Given the description of an element on the screen output the (x, y) to click on. 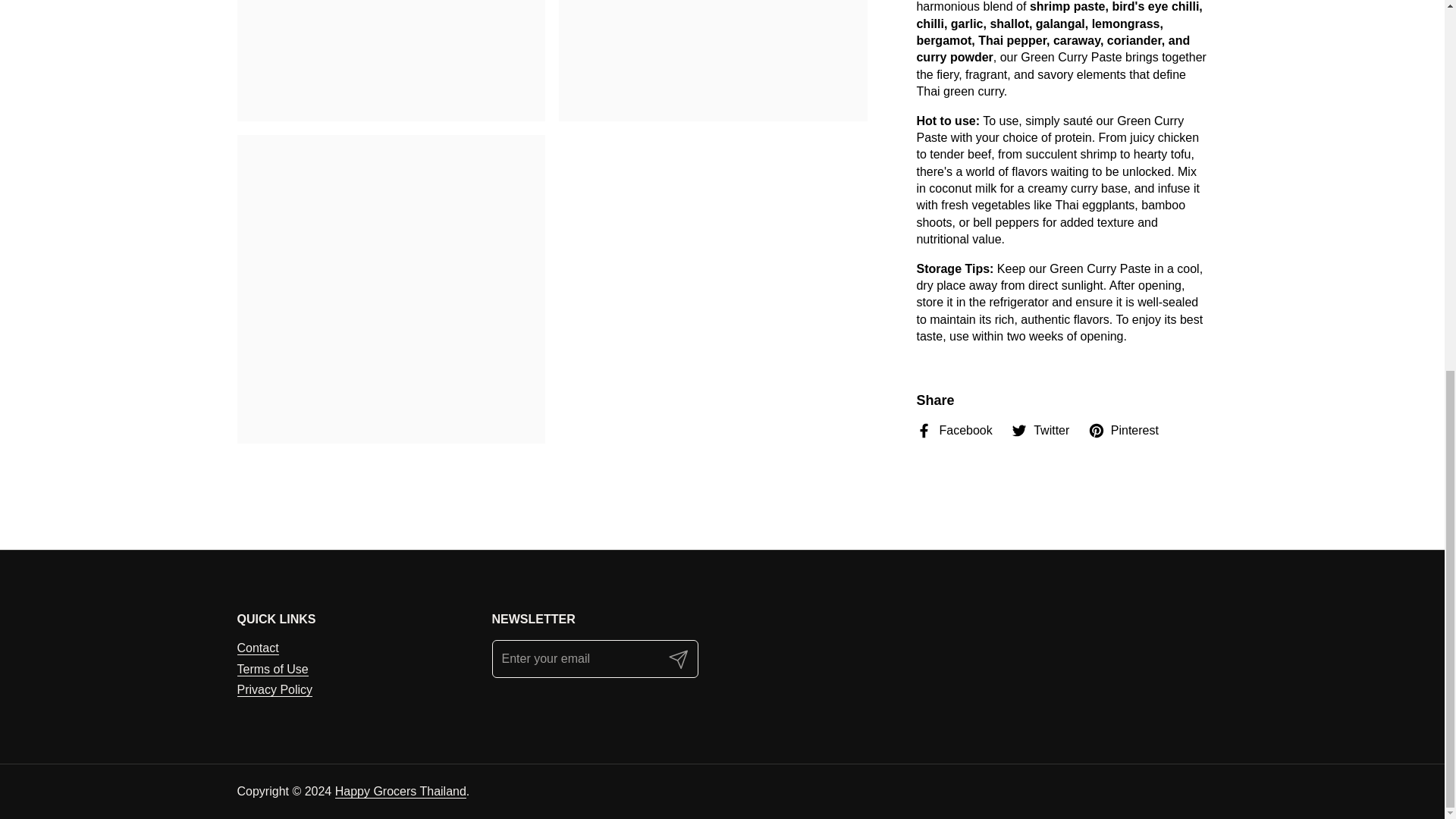
Share on pinterest (1122, 268)
Share on facebook (953, 268)
Share on twitter (1039, 268)
